Given the description of an element on the screen output the (x, y) to click on. 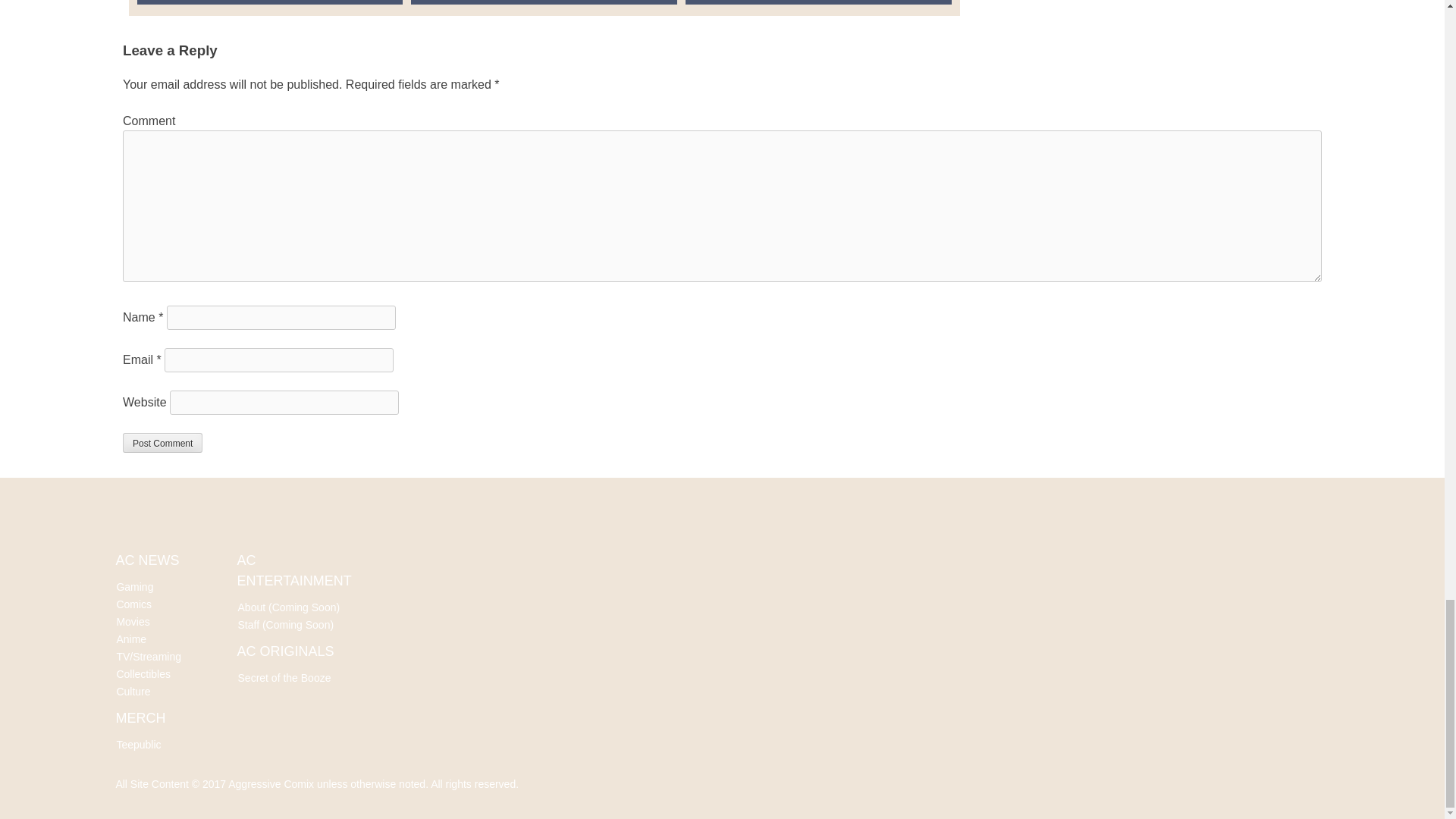
Post Comment (162, 442)
